Given the description of an element on the screen output the (x, y) to click on. 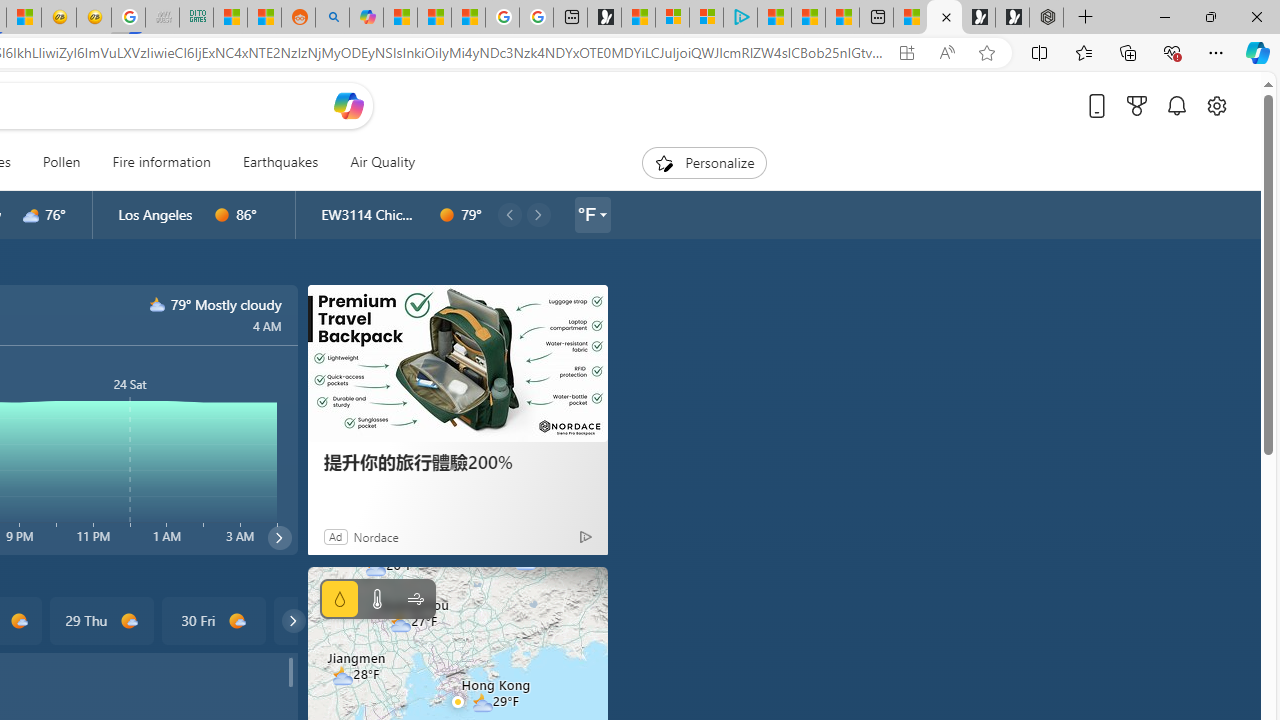
Air Quality (375, 162)
Pollen (61, 162)
Air Quality (382, 162)
Earthquakes (280, 162)
Wind (414, 599)
n3000 (157, 303)
